Given the description of an element on the screen output the (x, y) to click on. 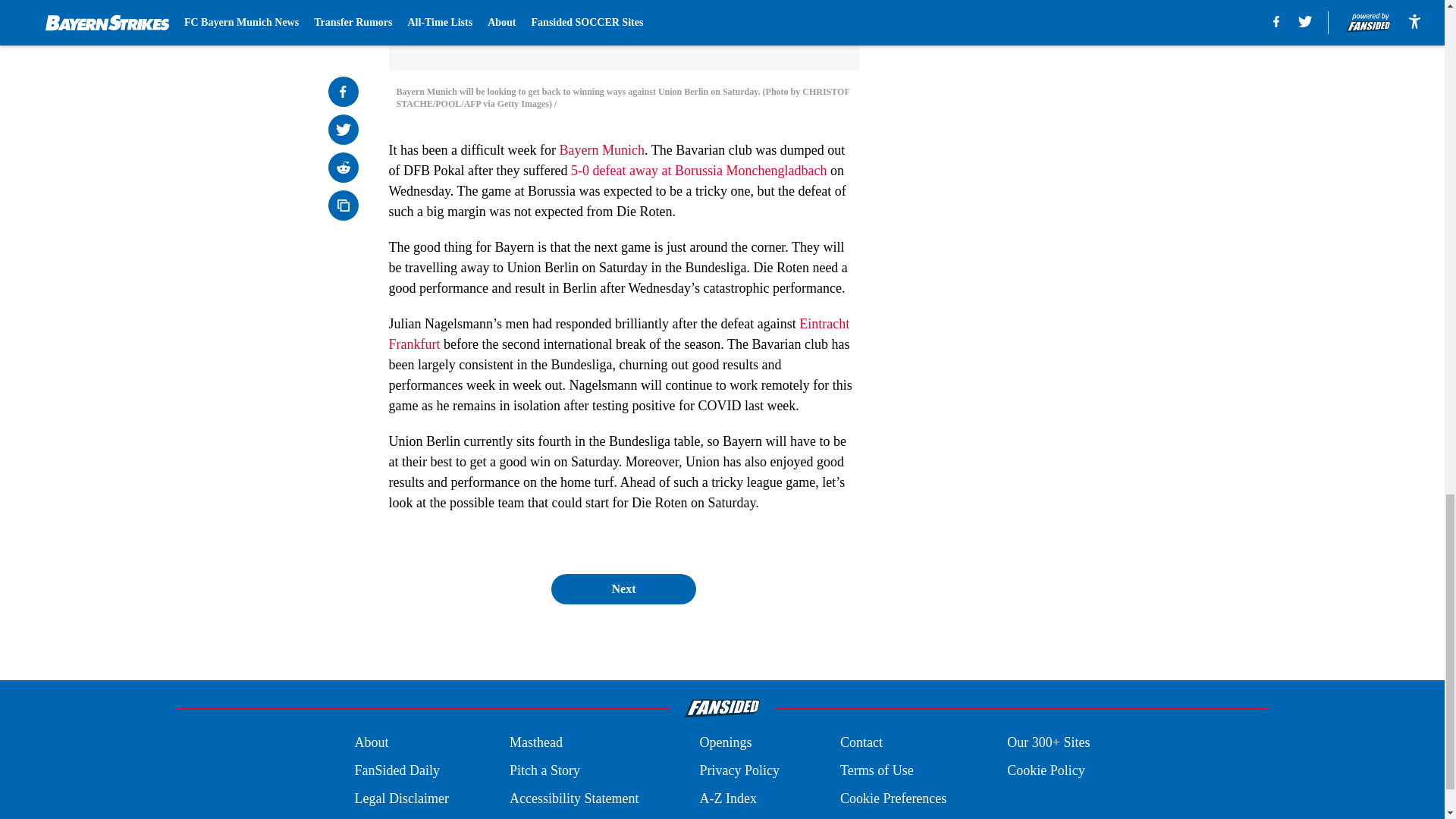
Privacy Policy (738, 770)
Masthead (535, 742)
Cookie Preferences (893, 798)
Terms of Use (877, 770)
Cookie Policy (1045, 770)
Bayern Munich (602, 150)
Pitch a Story (544, 770)
About (370, 742)
Contact (861, 742)
Legal Disclaimer (400, 798)
Accessibility Statement (574, 798)
A-Z Index (726, 798)
5-0 defeat away at Borussia Monchengladbach (697, 170)
Eintracht Frankfurt (618, 334)
Next (622, 589)
